Given the description of an element on the screen output the (x, y) to click on. 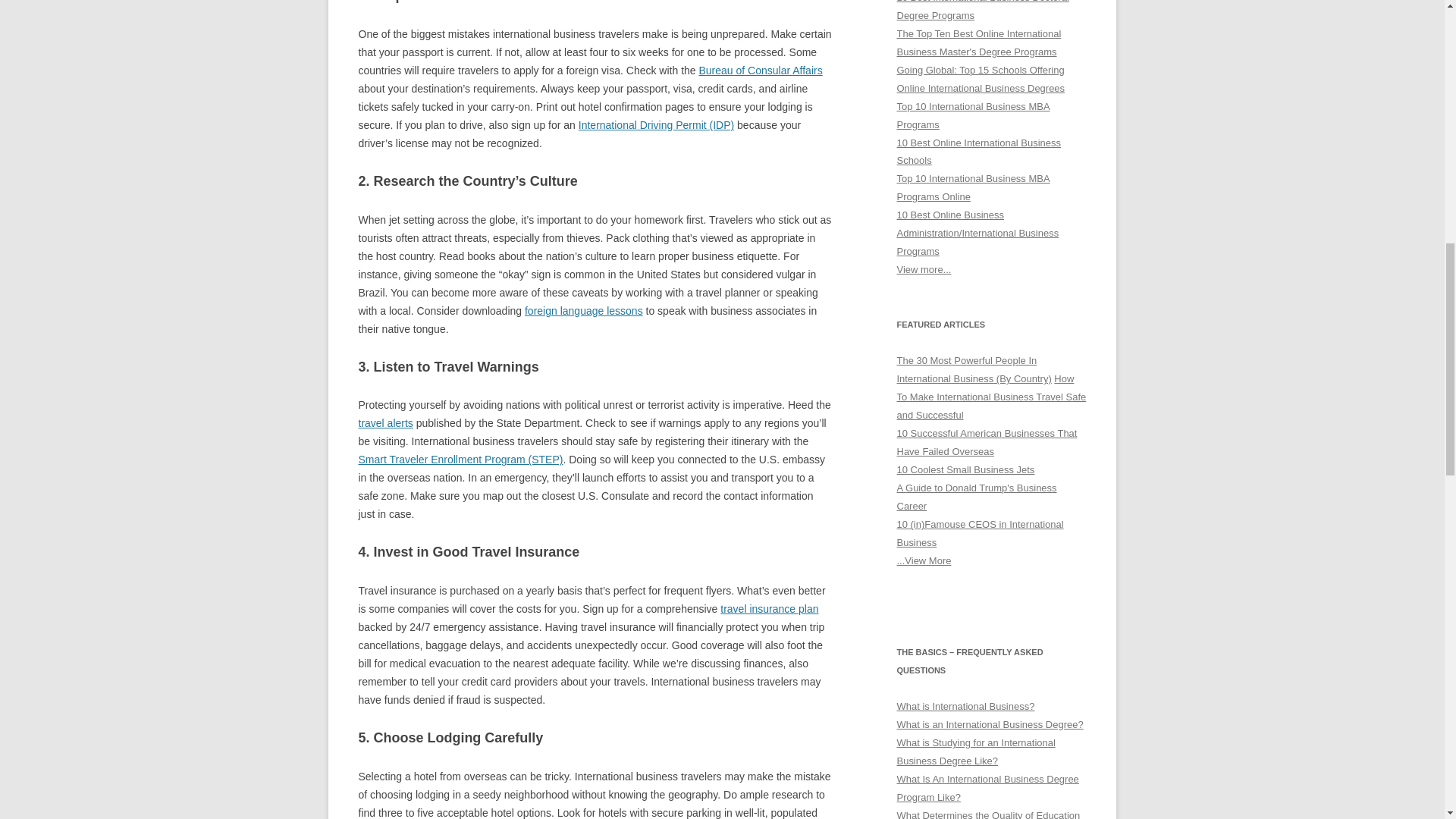
travel alerts (385, 422)
10 Best International Business Doctoral Degree Programs (982, 10)
foreign language lessons (583, 310)
Top 10 International Business MBA Programs (972, 115)
Bureau of Consular Affairs (760, 70)
travel insurance plan (769, 608)
